Given the description of an element on the screen output the (x, y) to click on. 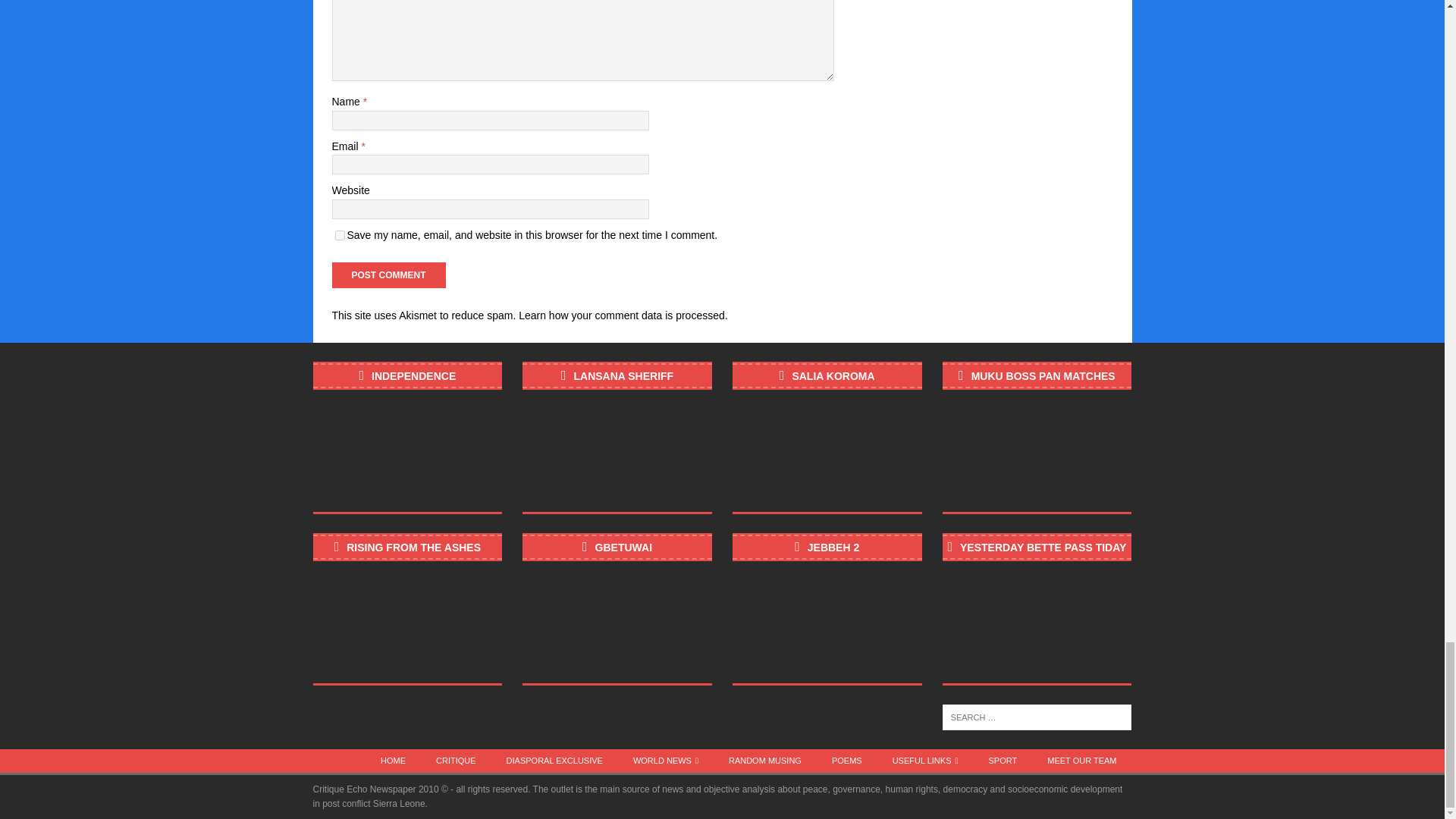
Post Comment (388, 275)
yes (339, 235)
